Given the description of an element on the screen output the (x, y) to click on. 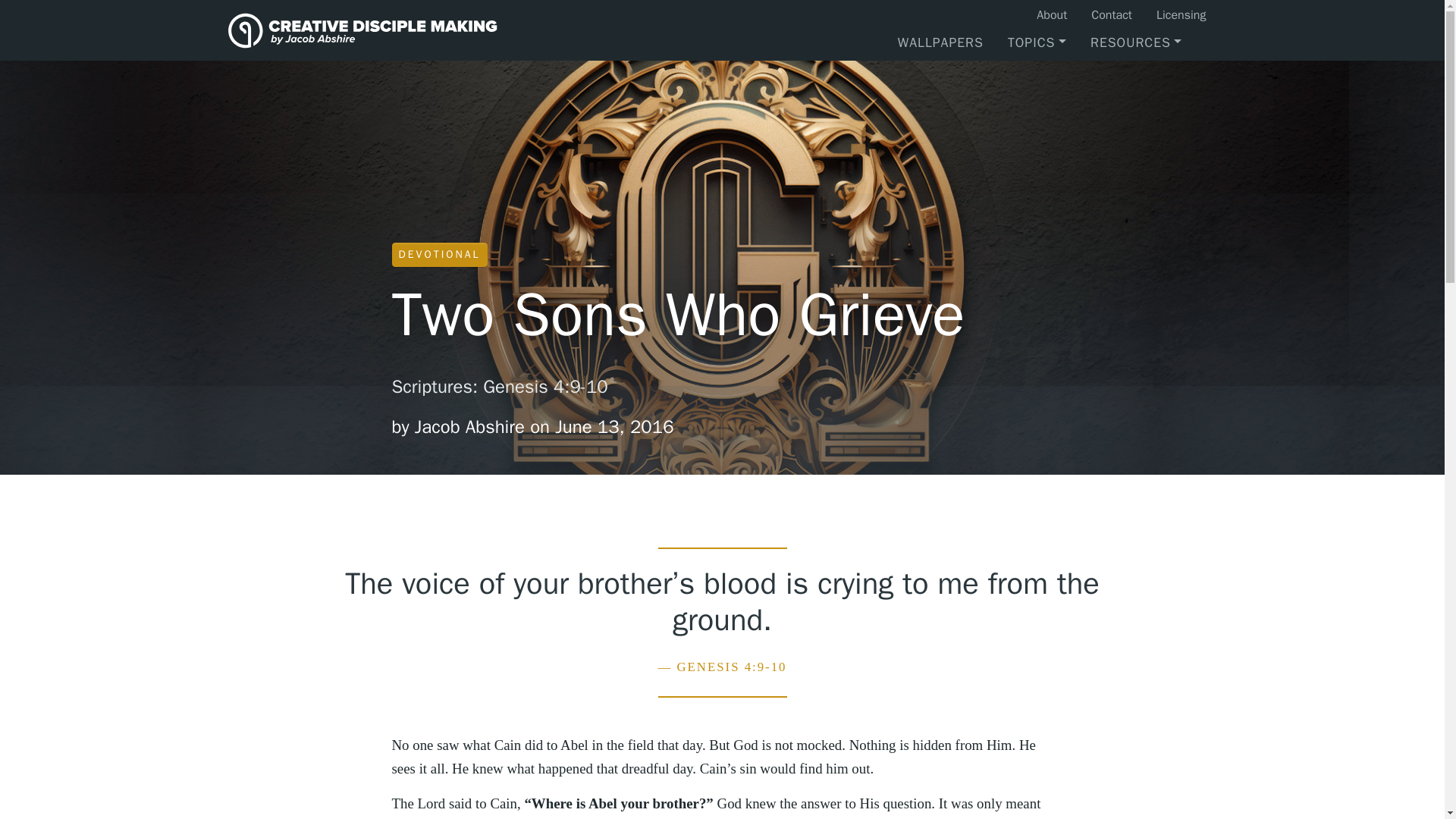
Jacob Abshire (390, 30)
